Given the description of an element on the screen output the (x, y) to click on. 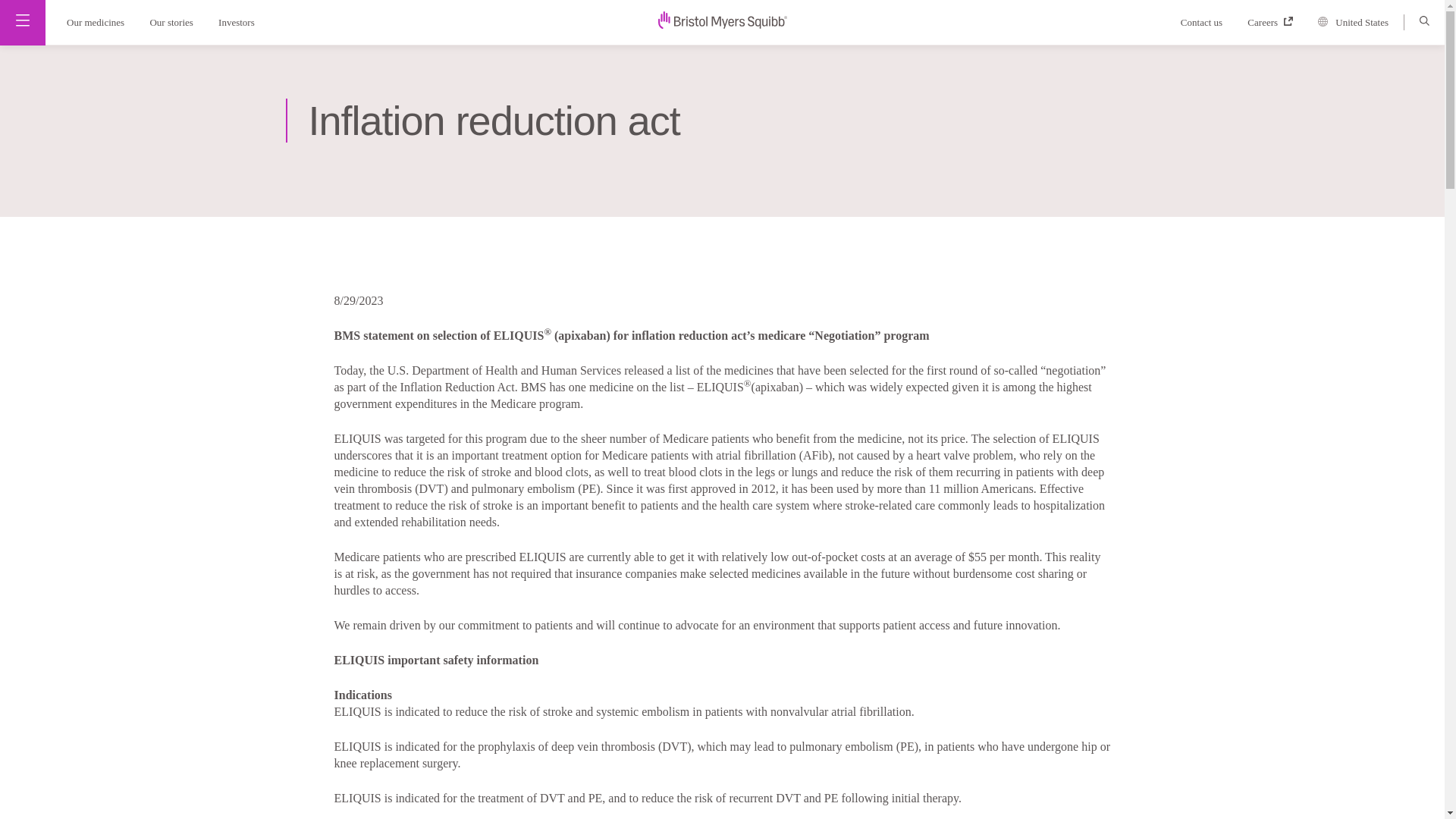
Investors (241, 21)
Our medicines (91, 21)
null (722, 19)
Main Menu (22, 20)
Our stories (172, 21)
Careers (1276, 21)
United States (1359, 22)
bms (722, 24)
Contact us (1208, 21)
